Given the description of an element on the screen output the (x, y) to click on. 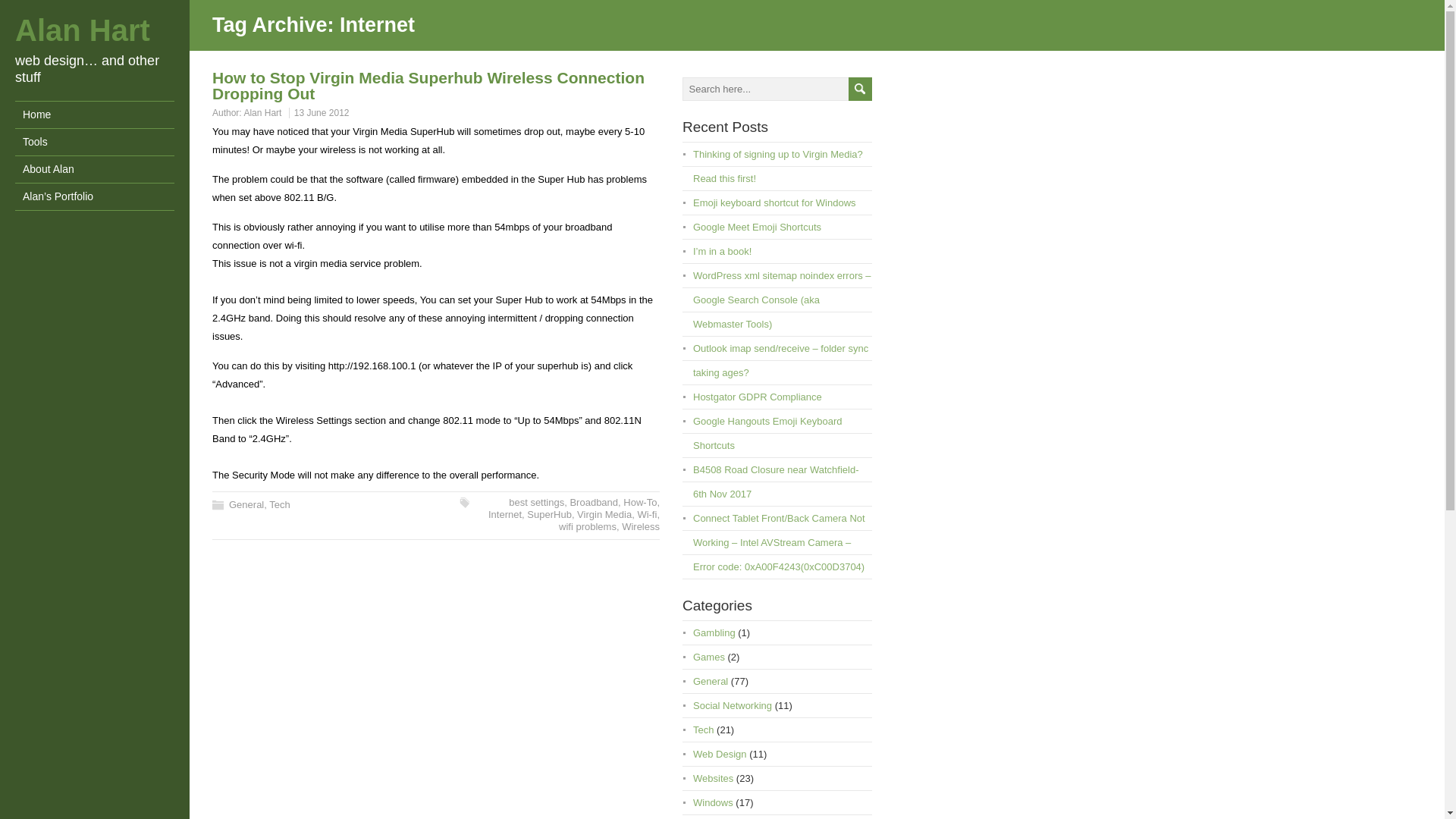
Wireless (640, 526)
About Alan (94, 169)
Websites (713, 778)
Web Design (719, 754)
Tech (279, 504)
Broadband (593, 501)
Wi-fi (646, 514)
Google Meet Emoji Shortcuts (757, 226)
How-To (639, 501)
Tools (94, 141)
Emoji keyboard shortcut for Windows (774, 202)
Windows (713, 802)
Hostgator GDPR Compliance (757, 396)
Google Hangouts Emoji Keyboard Shortcuts (768, 433)
